Given the description of an element on the screen output the (x, y) to click on. 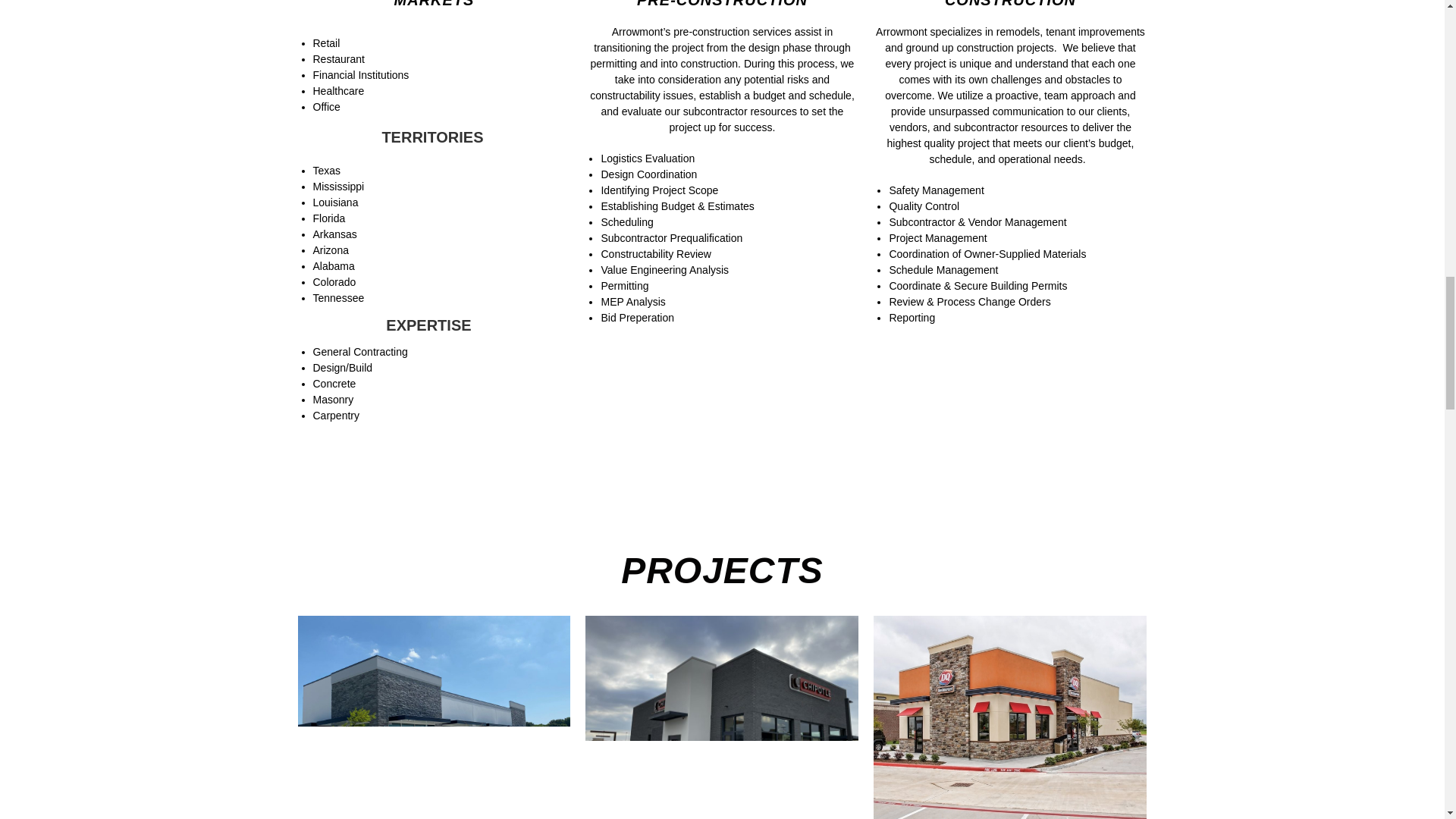
PRE-CONSTRUCTION (722, 4)
MARKETS (434, 4)
CONSTRUCTION (1009, 4)
